Given the description of an element on the screen output the (x, y) to click on. 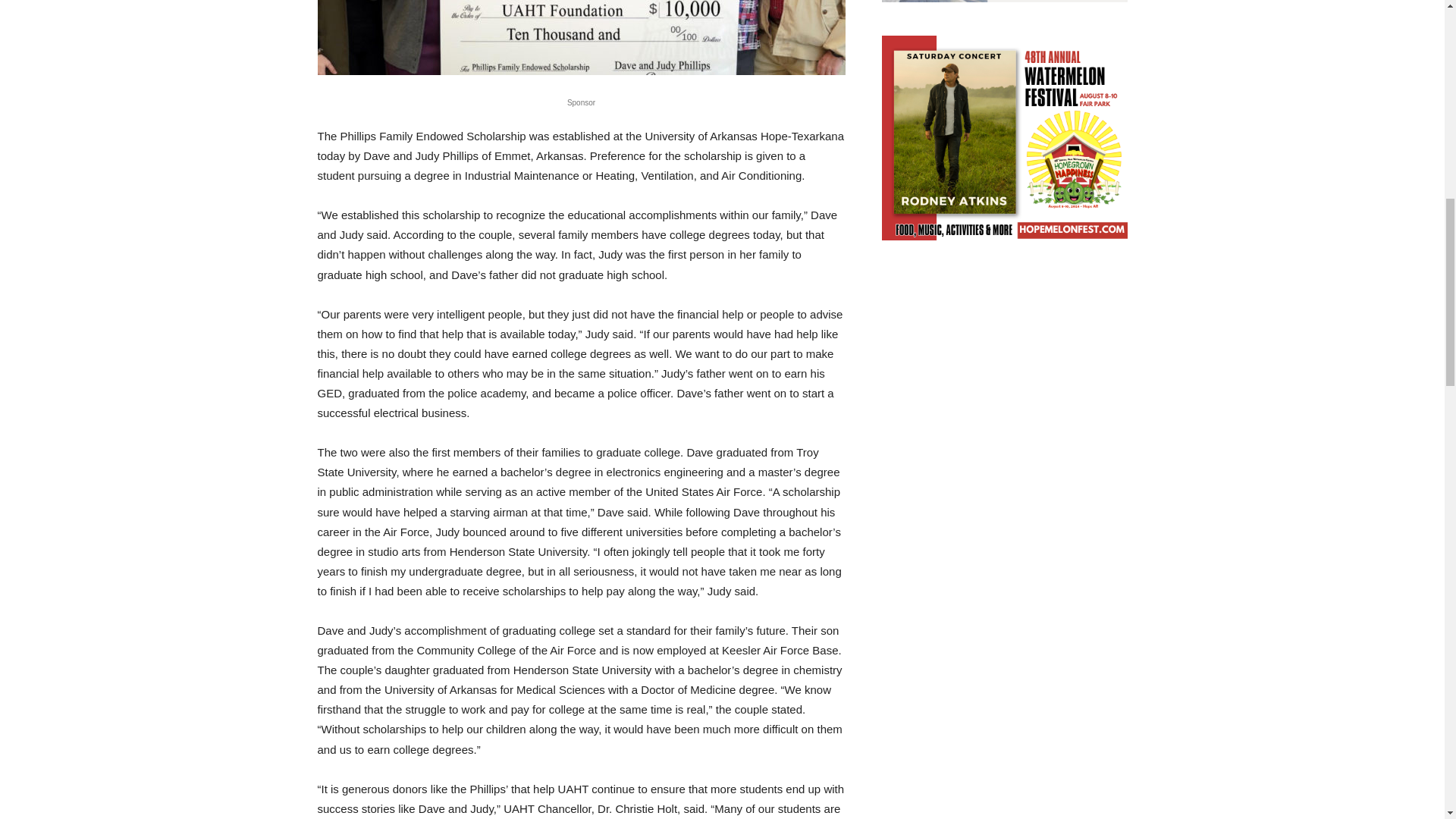
uaht foundation (580, 37)
